Given the description of an element on the screen output the (x, y) to click on. 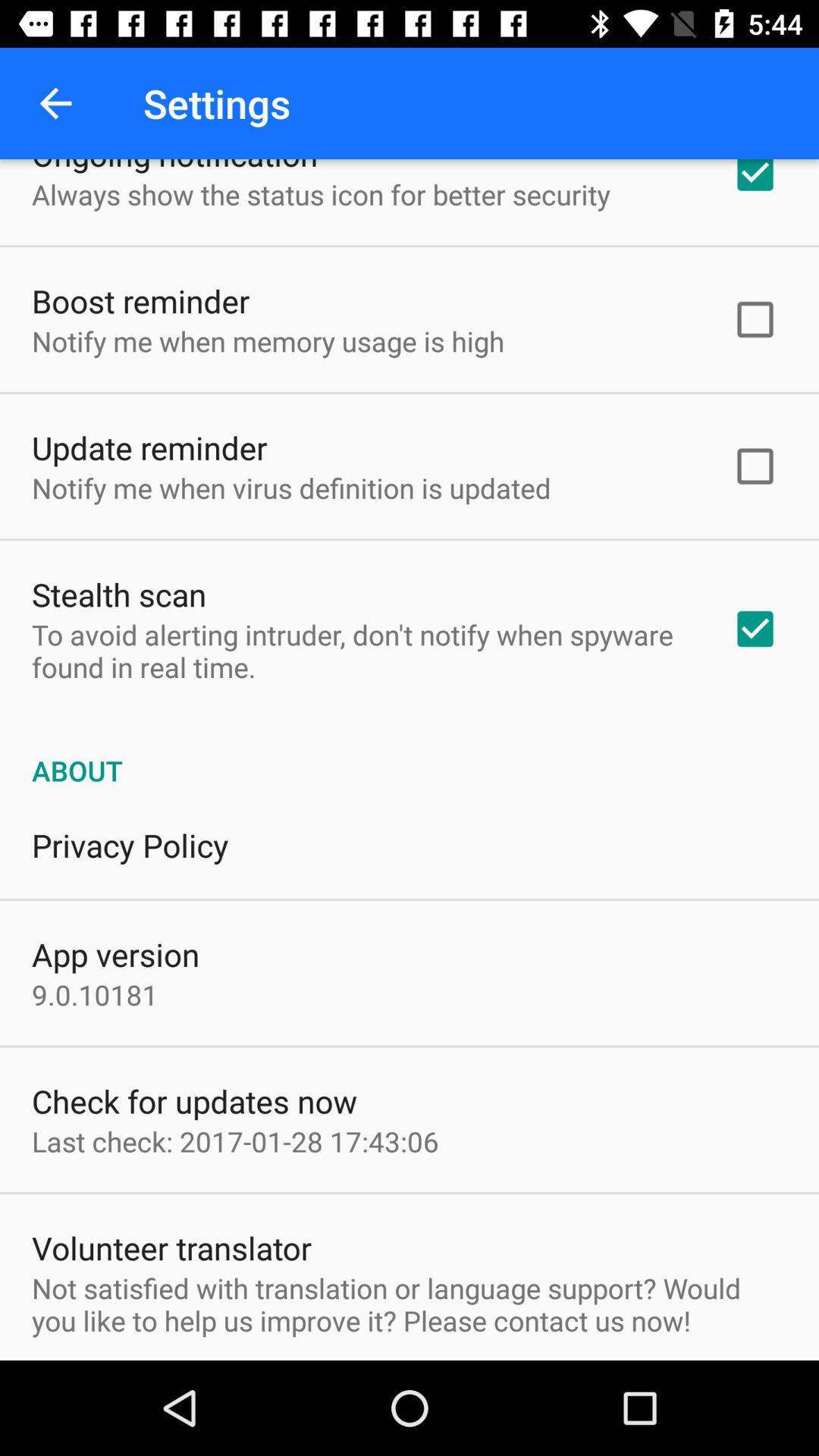
select last check 2017 (235, 1141)
